Given the description of an element on the screen output the (x, y) to click on. 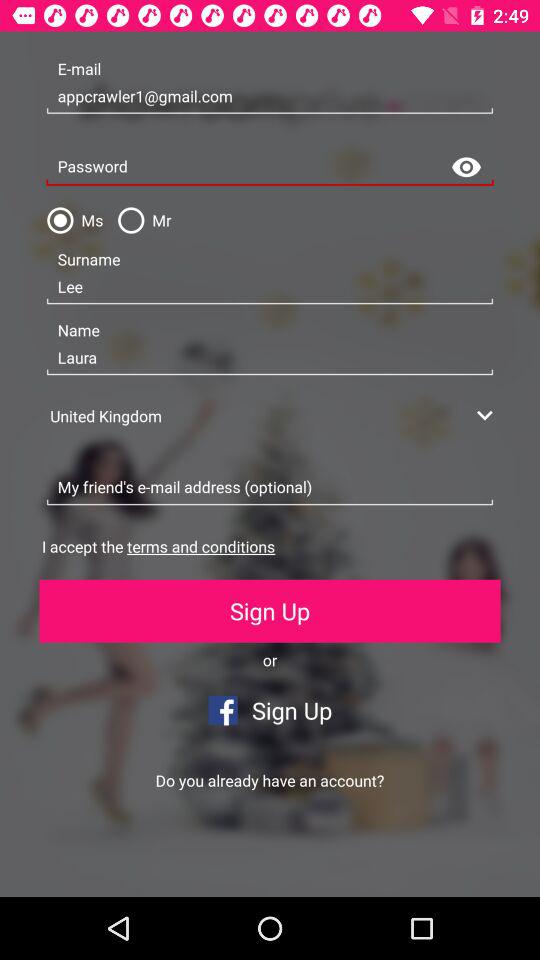
turn on the sign in item (135, 864)
